Given the description of an element on the screen output the (x, y) to click on. 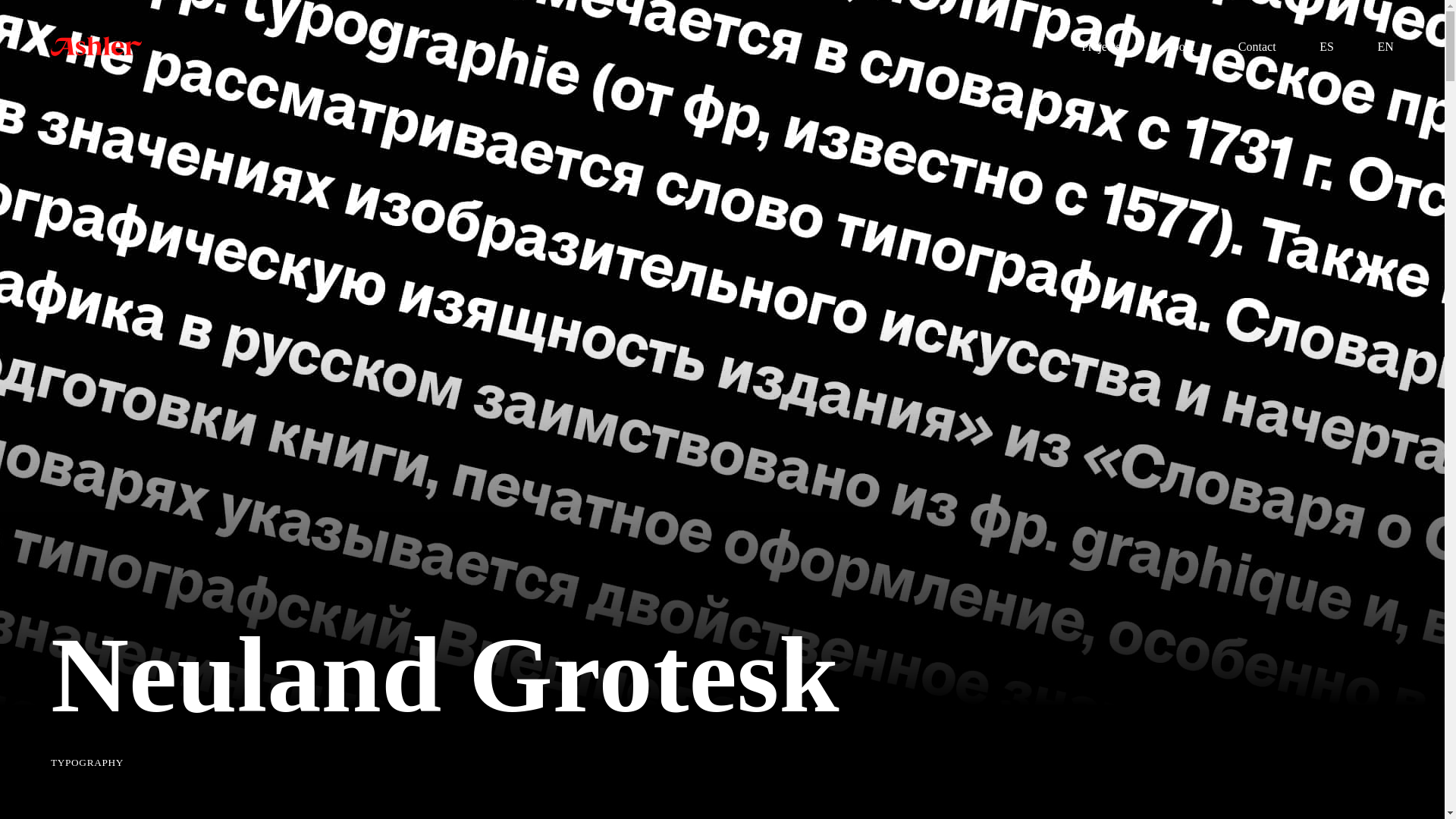
About (1178, 47)
Contact (1257, 47)
Projects (1101, 47)
